Given the description of an element on the screen output the (x, y) to click on. 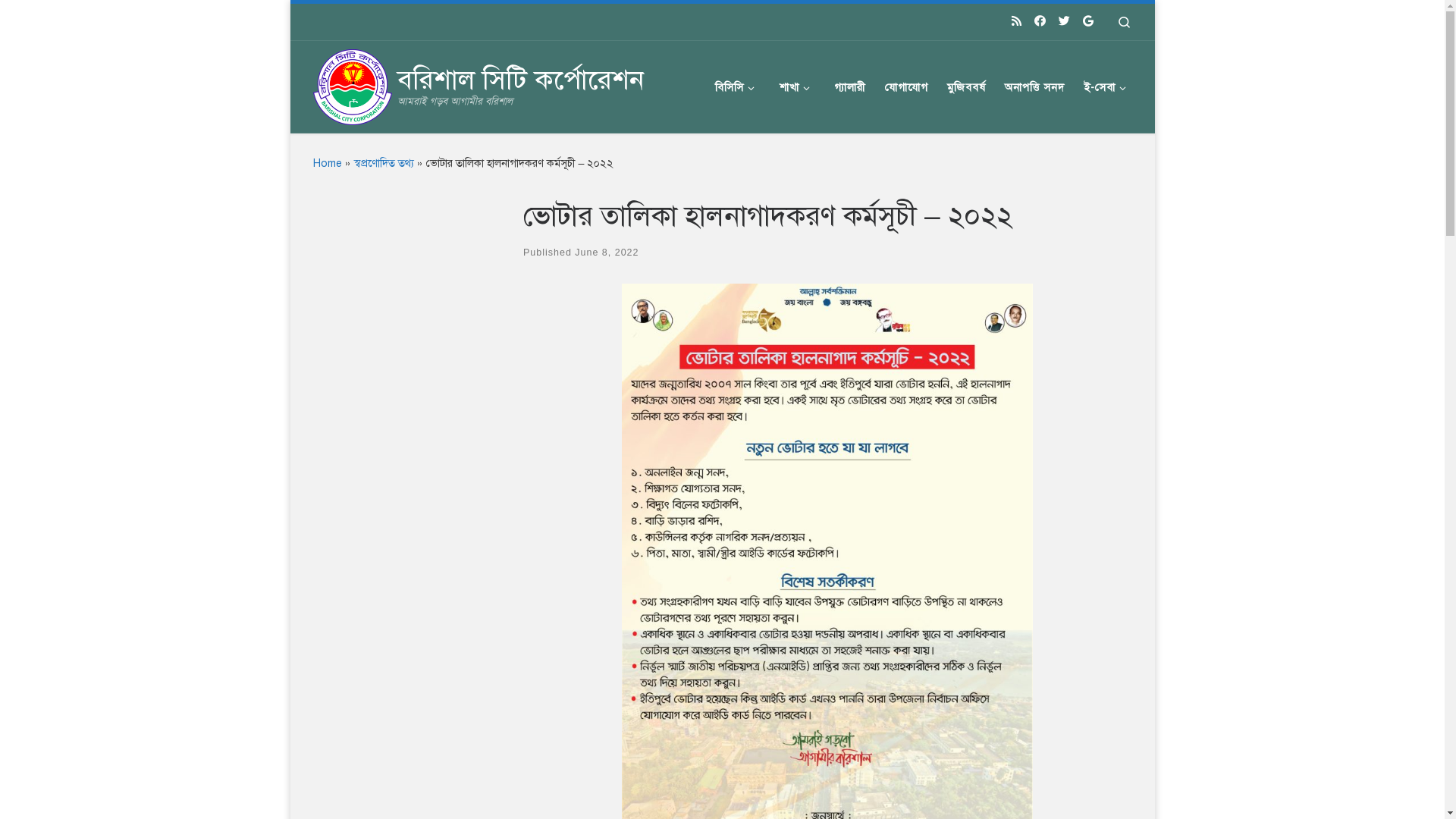
Follow us on Google Element type: hover (1087, 21)
Search Element type: text (1123, 21)
Home Element type: text (326, 162)
June 8, 2022 Element type: text (606, 252)
Subscribe to my rss feed Element type: hover (1016, 21)
Skip to content Element type: text (60, 21)
Follow us on Twitter Element type: hover (1064, 21)
Follow us on Facebook Element type: hover (1039, 21)
